Given the description of an element on the screen output the (x, y) to click on. 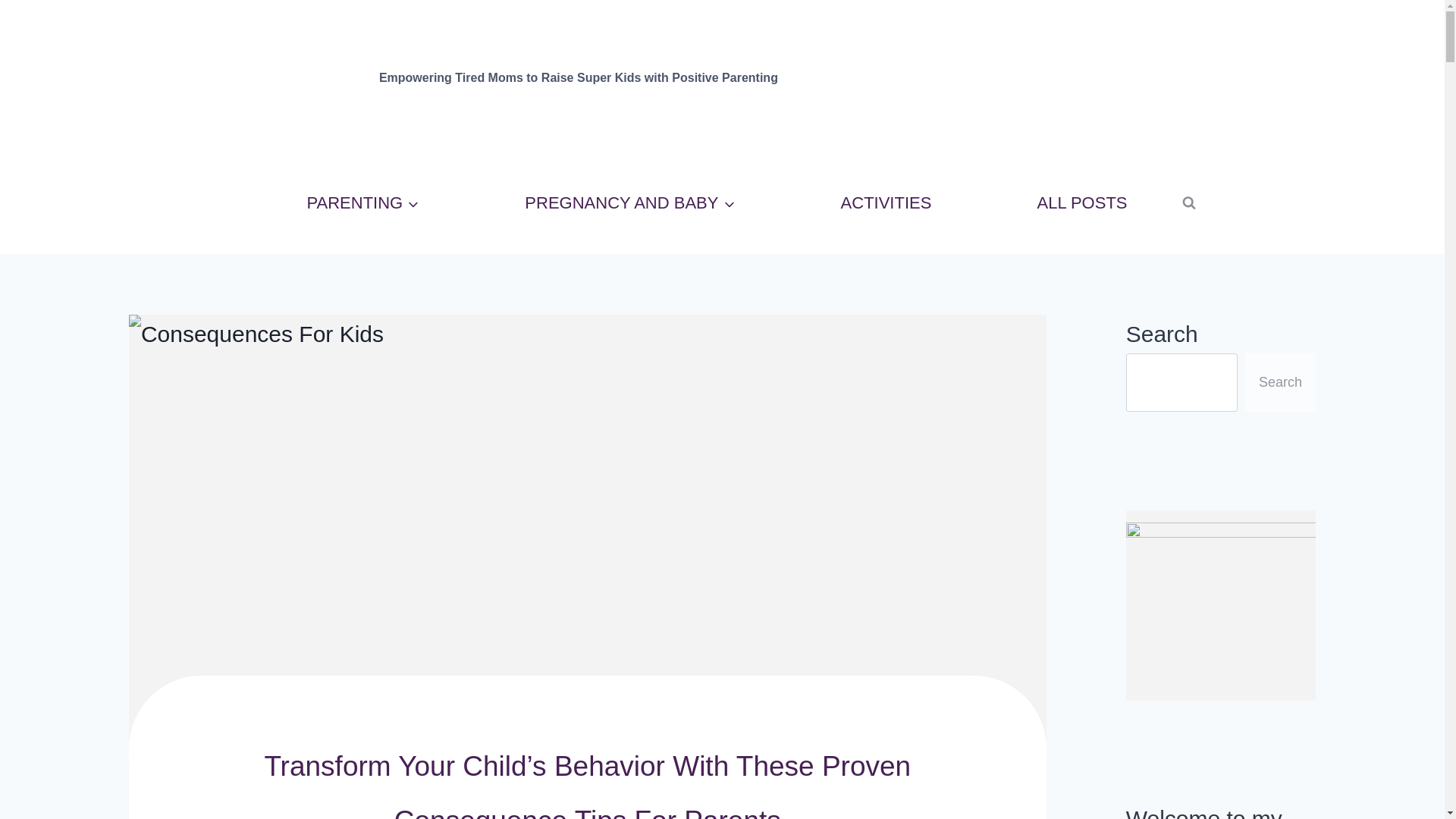
ALL POSTS (1081, 203)
ACTIVITIES (885, 203)
PARENTING (363, 203)
PREGNANCY AND BABY (630, 203)
